Given the description of an element on the screen output the (x, y) to click on. 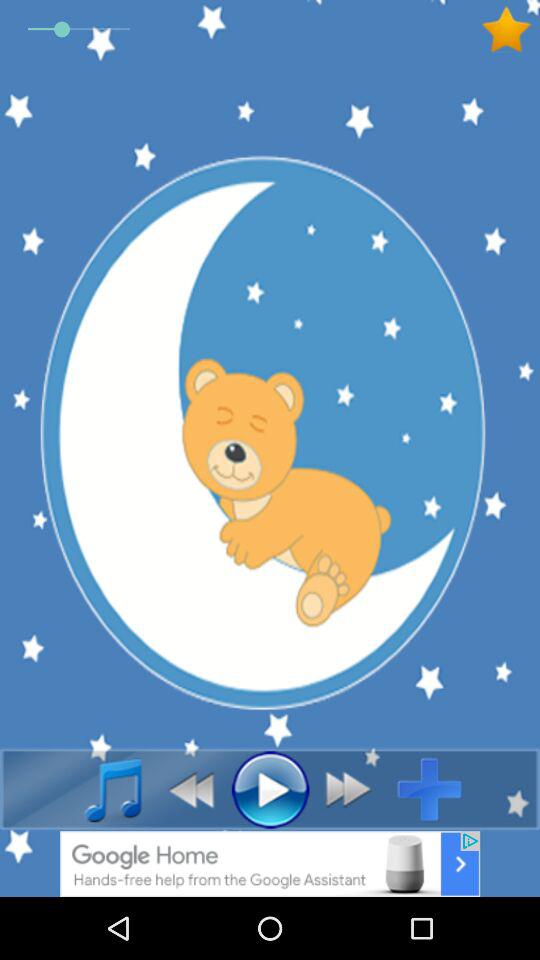
go to favorite button (510, 29)
